Given the description of an element on the screen output the (x, y) to click on. 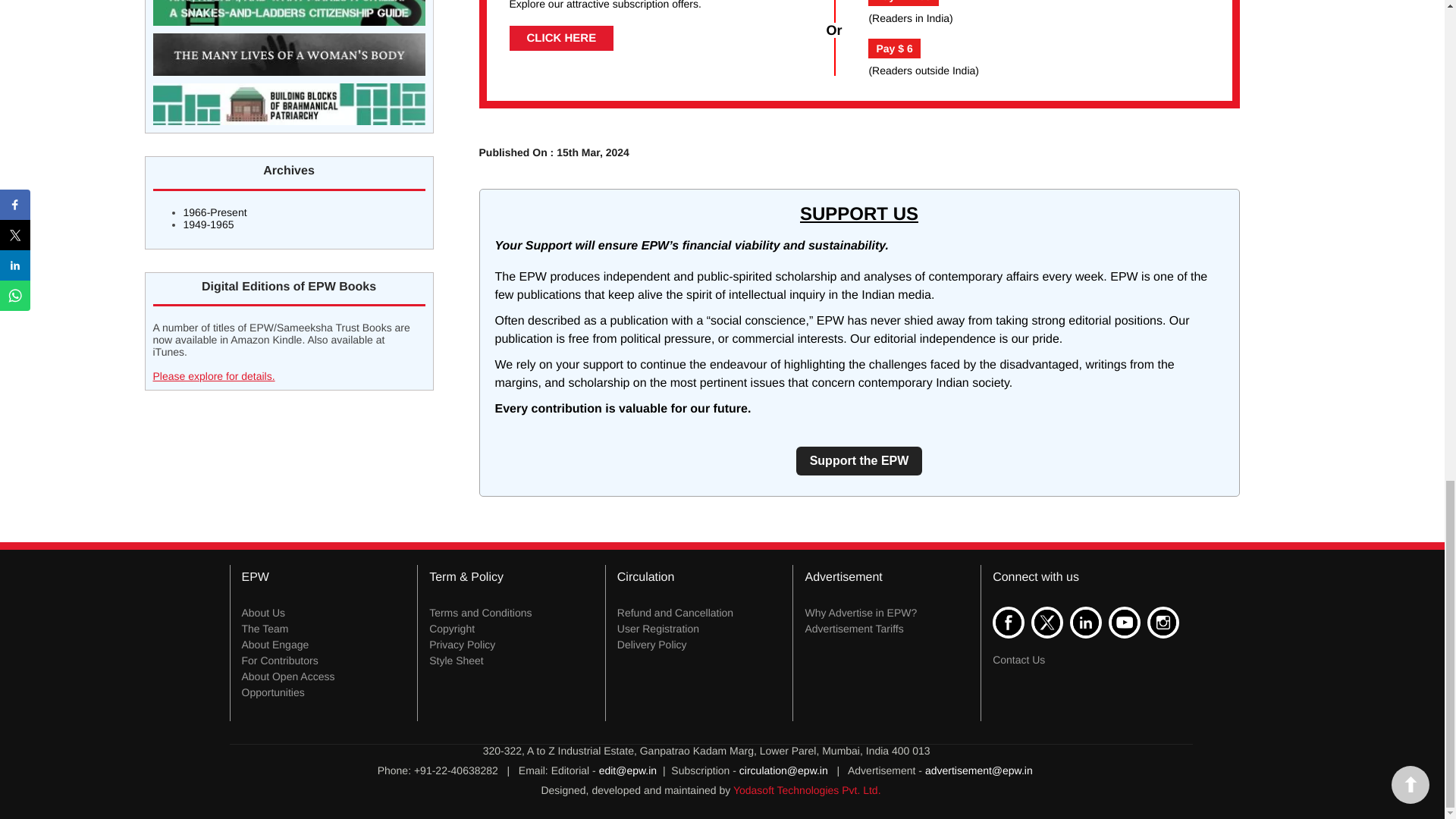
Support the EPW (859, 460)
